Given the description of an element on the screen output the (x, y) to click on. 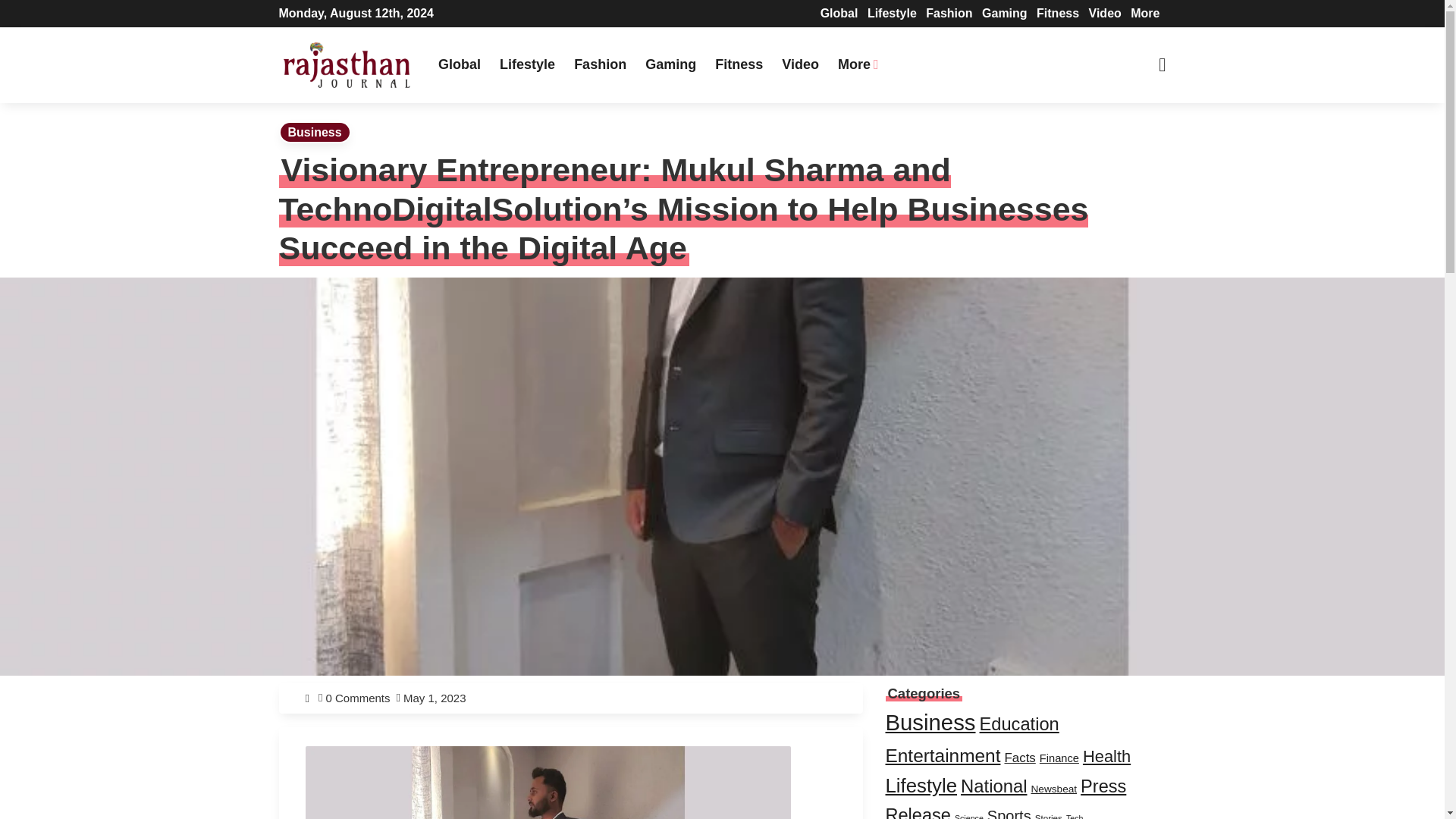
Fitness (738, 64)
Fitness (1057, 12)
Fashion (599, 64)
More (857, 64)
More (1144, 12)
Gaming (670, 64)
Global (458, 64)
Search (455, 16)
Video (800, 64)
View all posts in Business (315, 132)
